Given the description of an element on the screen output the (x, y) to click on. 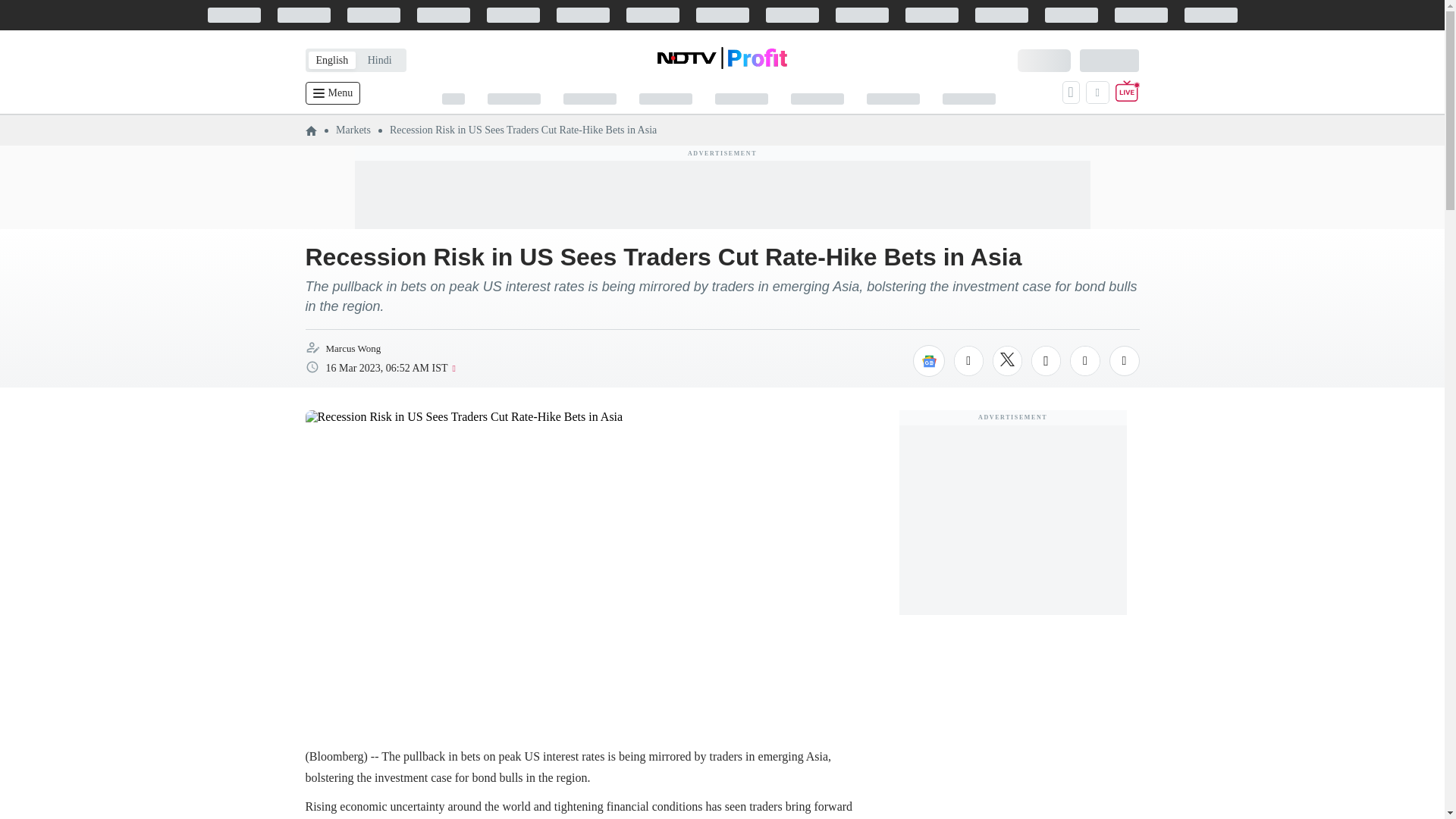
Live TV (1127, 92)
Hindi (379, 59)
Menu (331, 92)
English (331, 59)
Hindi (378, 59)
